Given the description of an element on the screen output the (x, y) to click on. 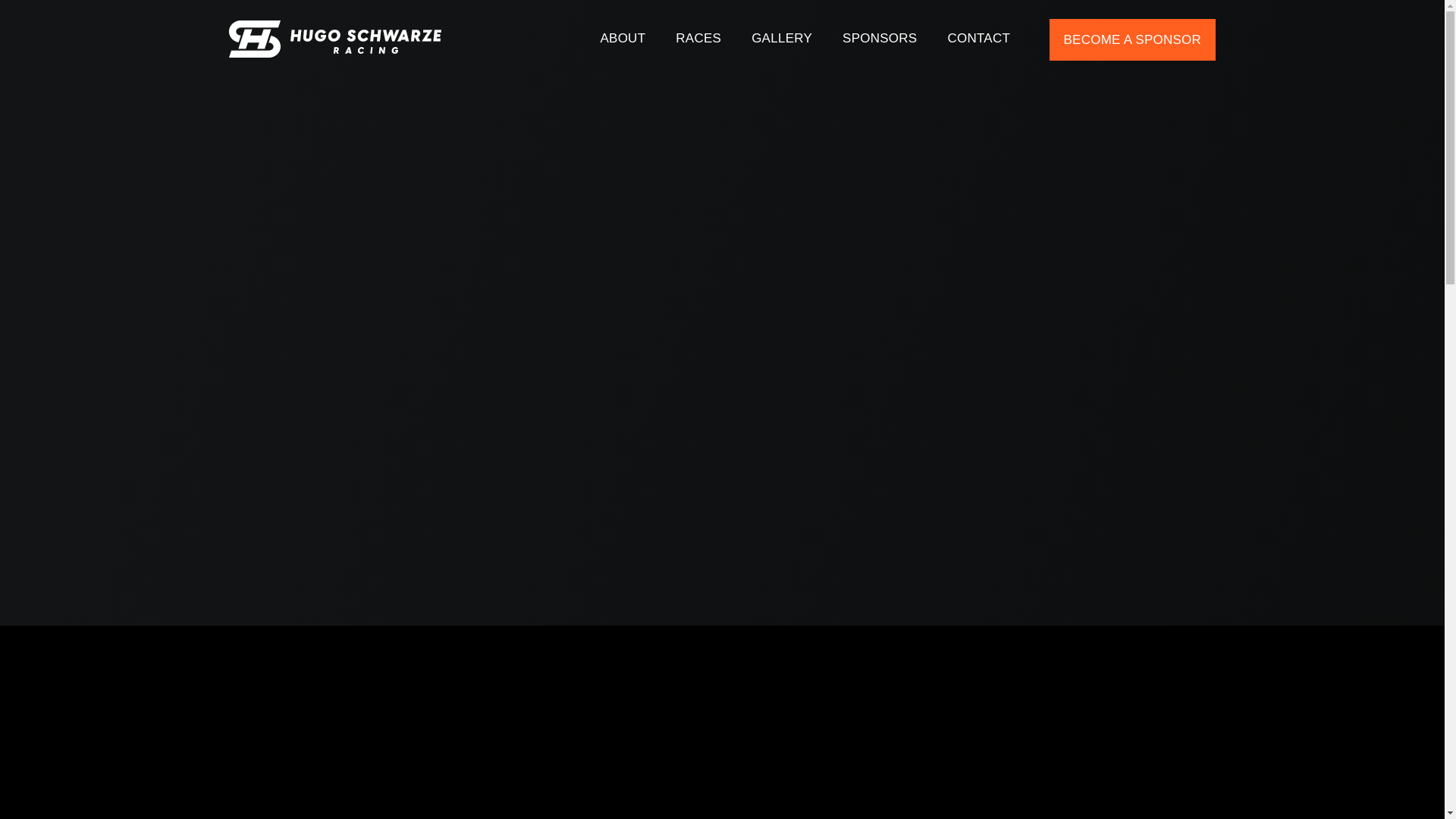
GALLERY (781, 41)
RACES (697, 41)
SPONSORS (880, 41)
BECOME A SPONSOR (1131, 39)
CONTACT (978, 41)
ABOUT (622, 41)
